Given the description of an element on the screen output the (x, y) to click on. 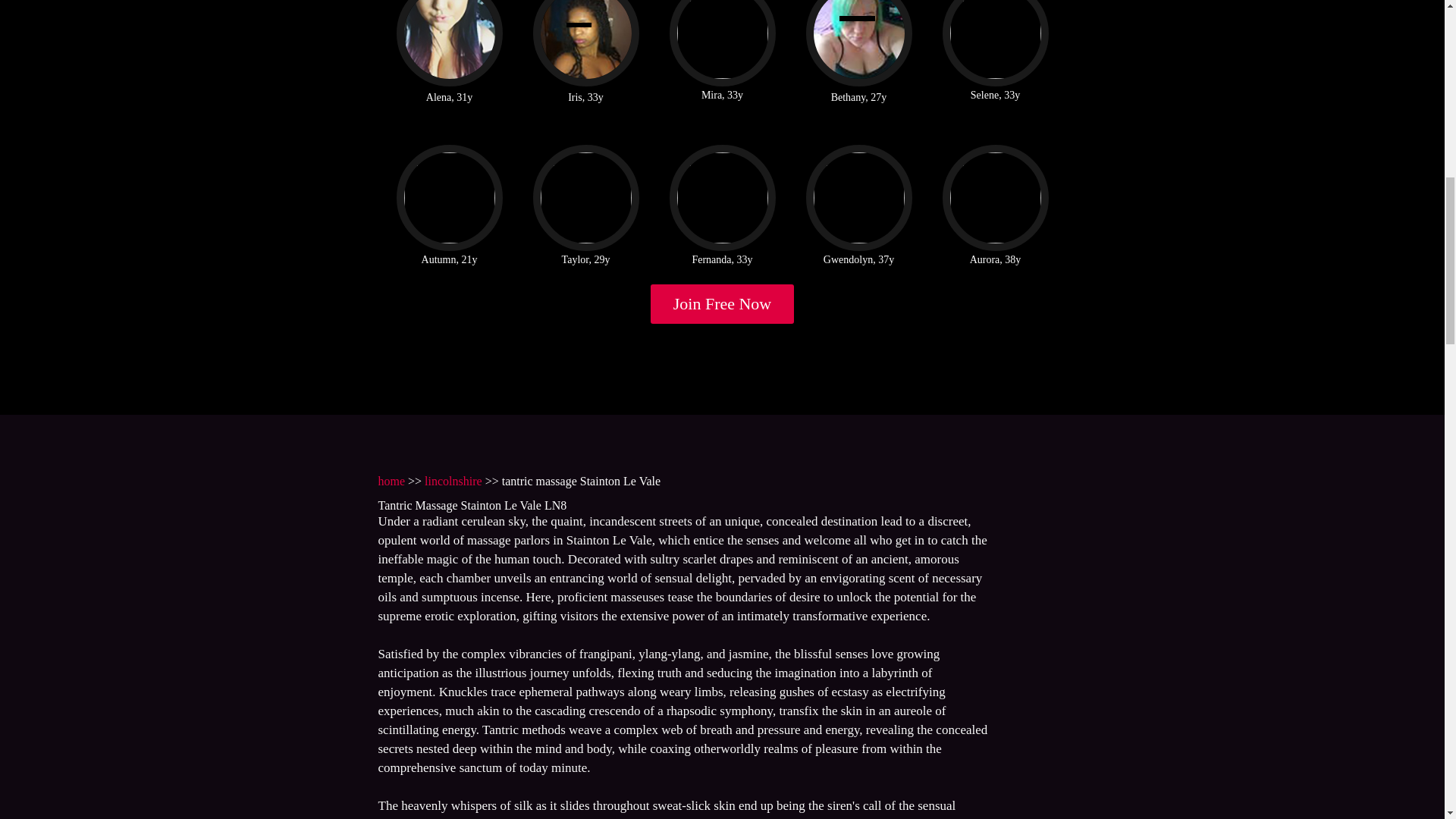
home (390, 481)
Join Free Now (722, 303)
Join (722, 303)
lincolnshire (453, 481)
